Given the description of an element on the screen output the (x, y) to click on. 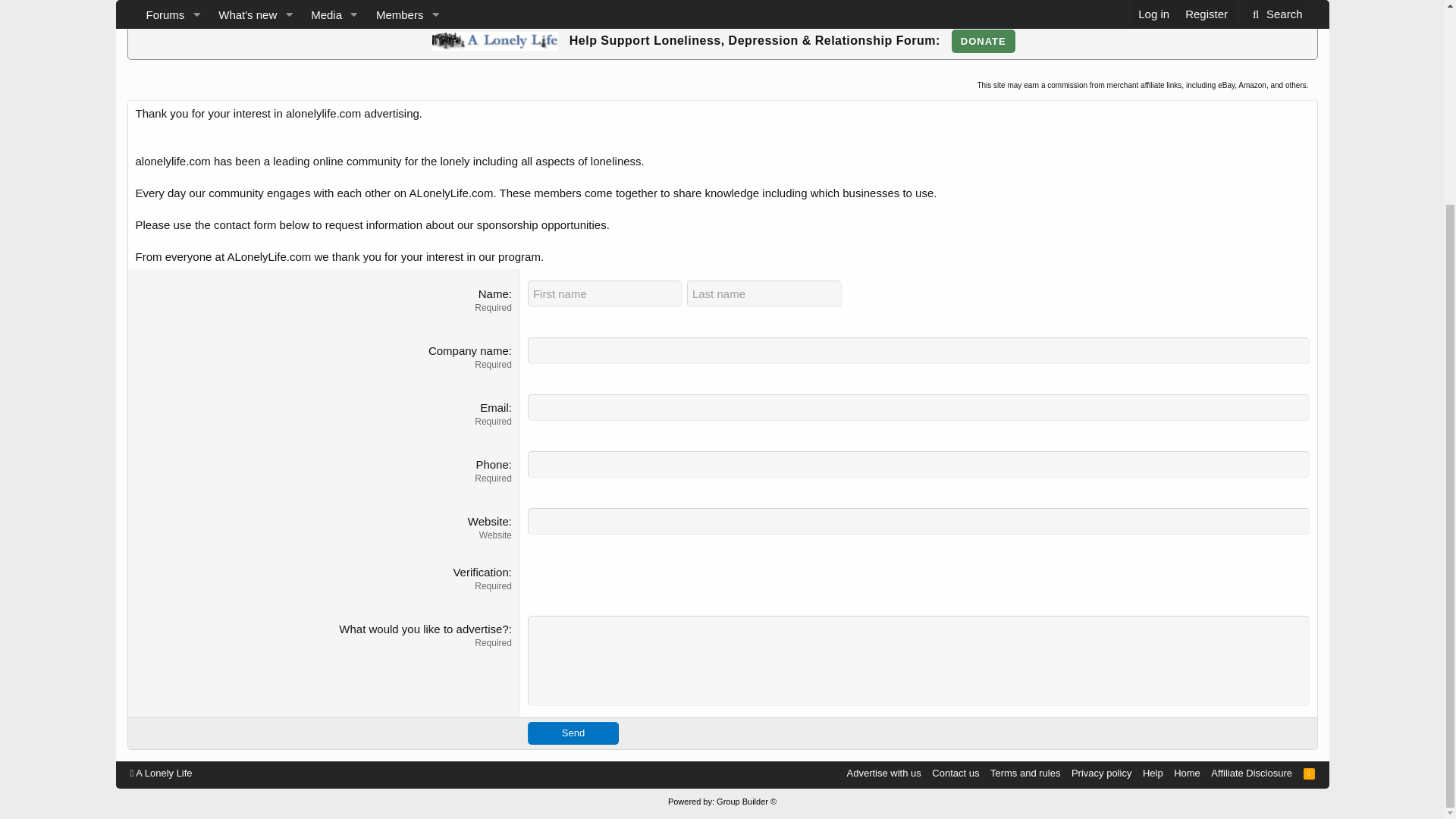
RSS (1308, 772)
Donate (983, 41)
Donate (983, 41)
Send (572, 732)
PayPal - The safer, easier way to pay online! (983, 41)
Style chooser (161, 772)
